Given the description of an element on the screen output the (x, y) to click on. 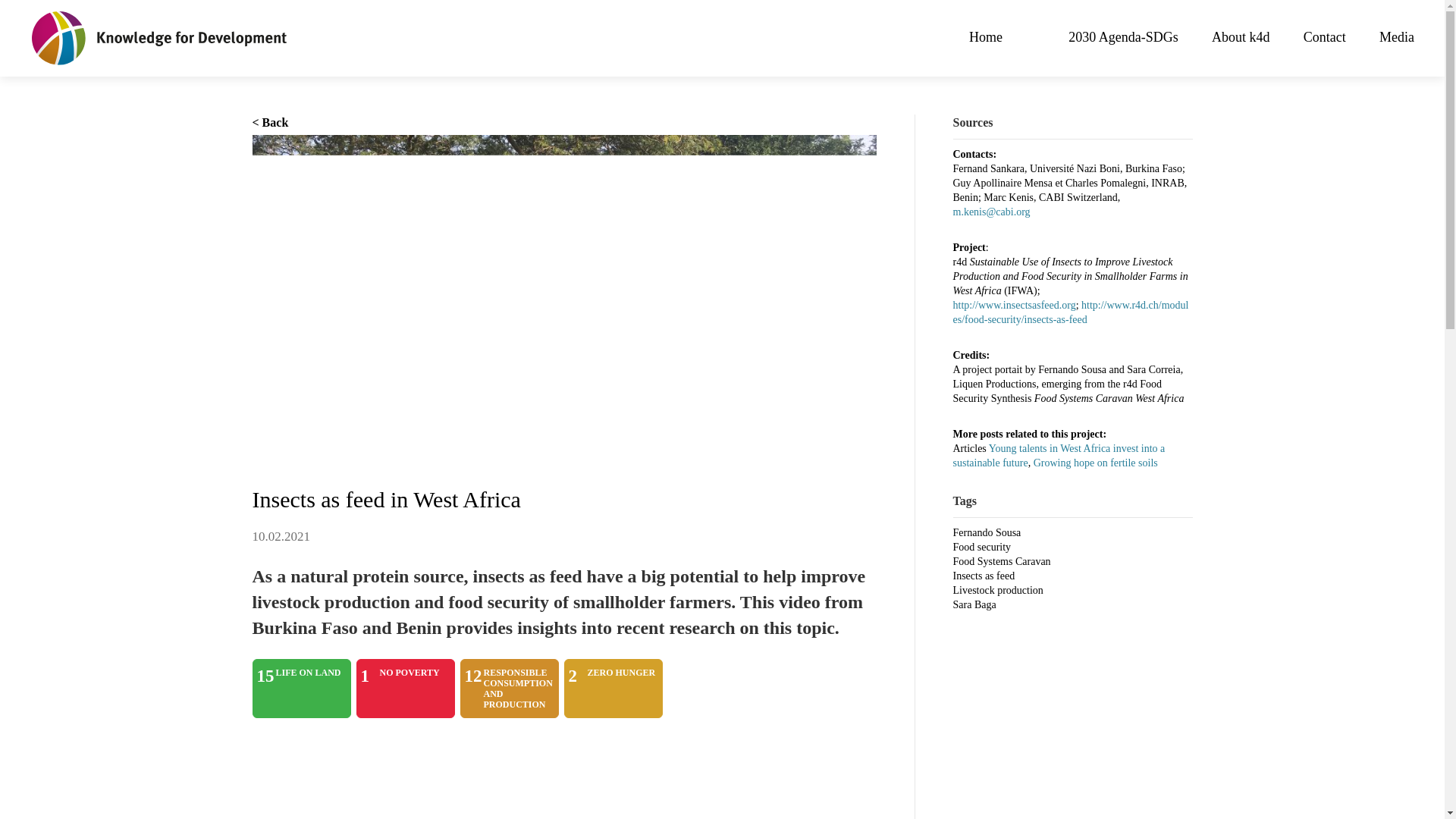
About k4d (1240, 39)
Media (508, 688)
Contact (1395, 39)
2030 Agenda-SDGs (1324, 39)
Home (300, 688)
Growing hope on fertile soils (1122, 39)
